Given the description of an element on the screen output the (x, y) to click on. 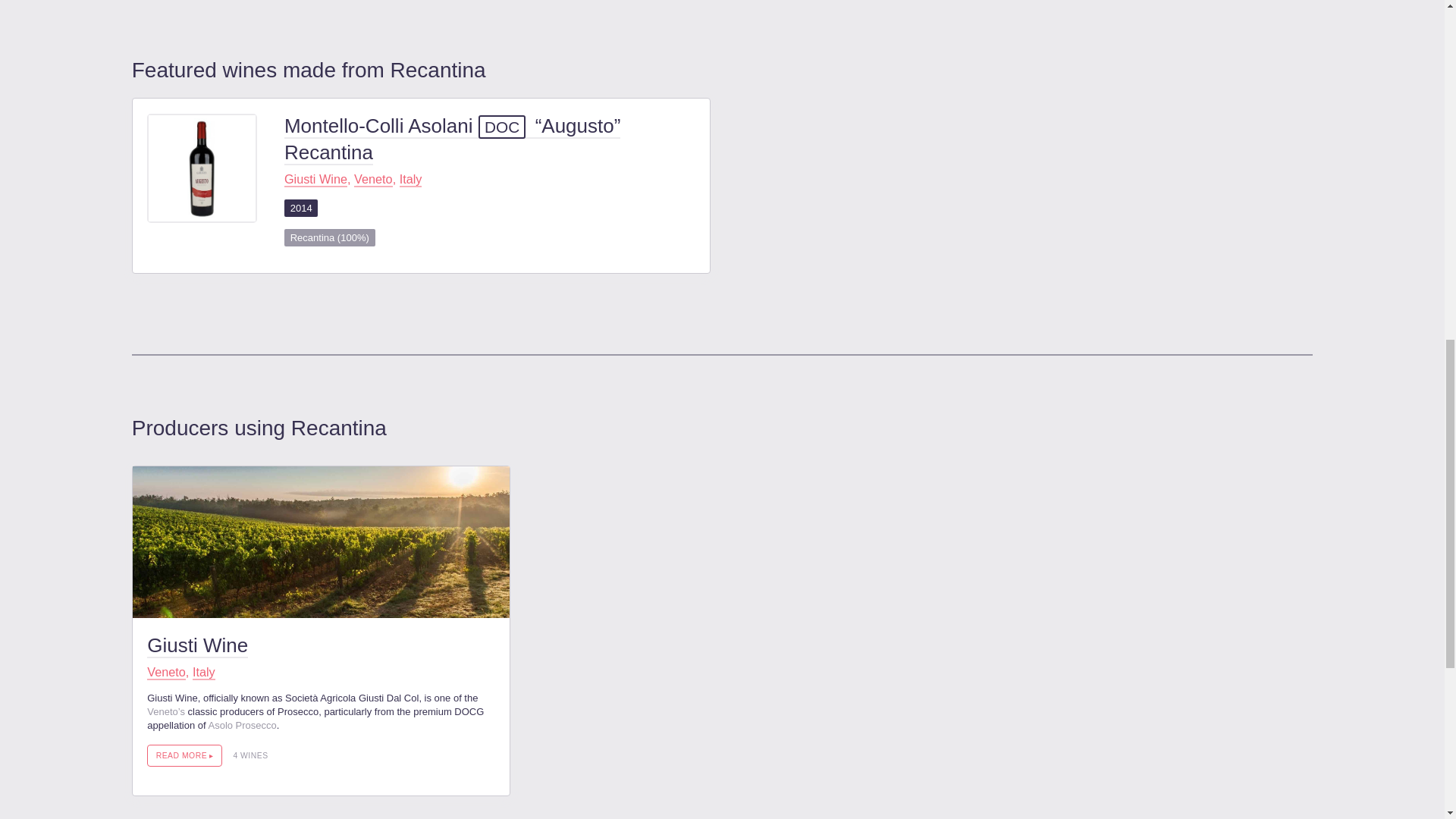
2014 (301, 207)
Italy (203, 672)
Veneto (166, 672)
Giusti Wine (315, 179)
Veneto (373, 179)
Giusti Wine (197, 645)
Italy (410, 179)
